Given the description of an element on the screen output the (x, y) to click on. 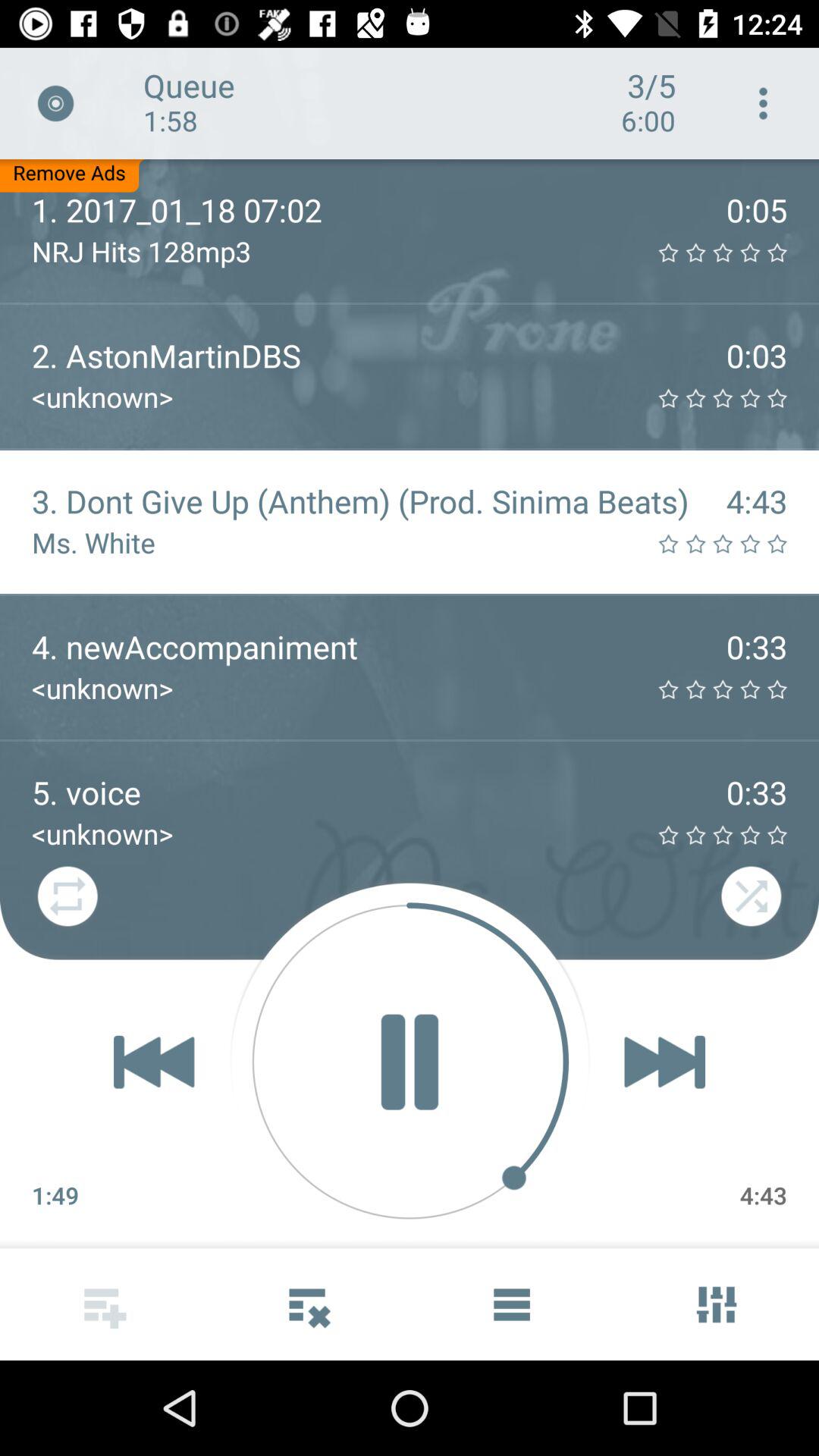
click icon to the right of the 3/5 icon (763, 103)
